Given the description of an element on the screen output the (x, y) to click on. 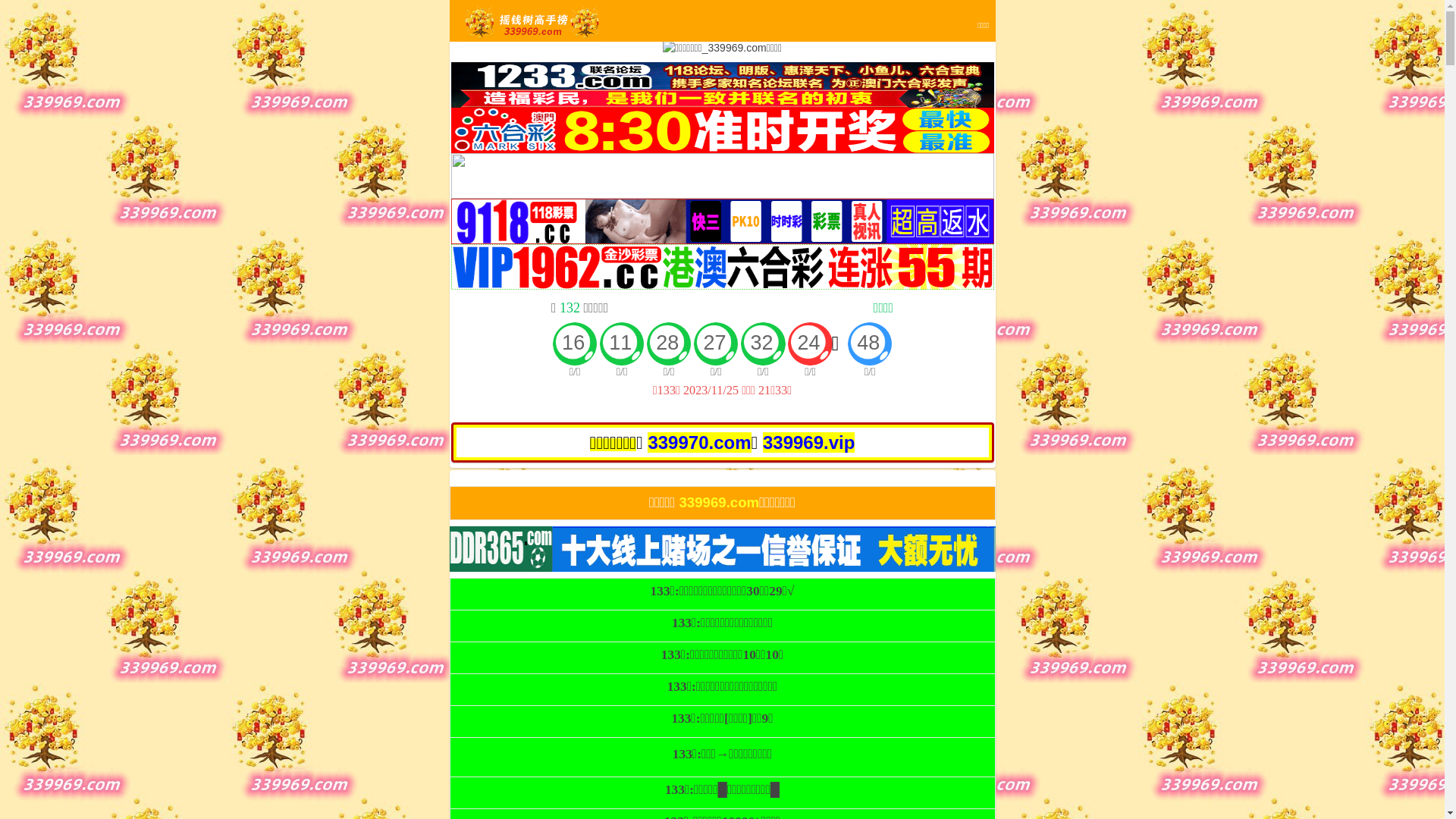
0 Element type: hover (721, 48)
